Given the description of an element on the screen output the (x, y) to click on. 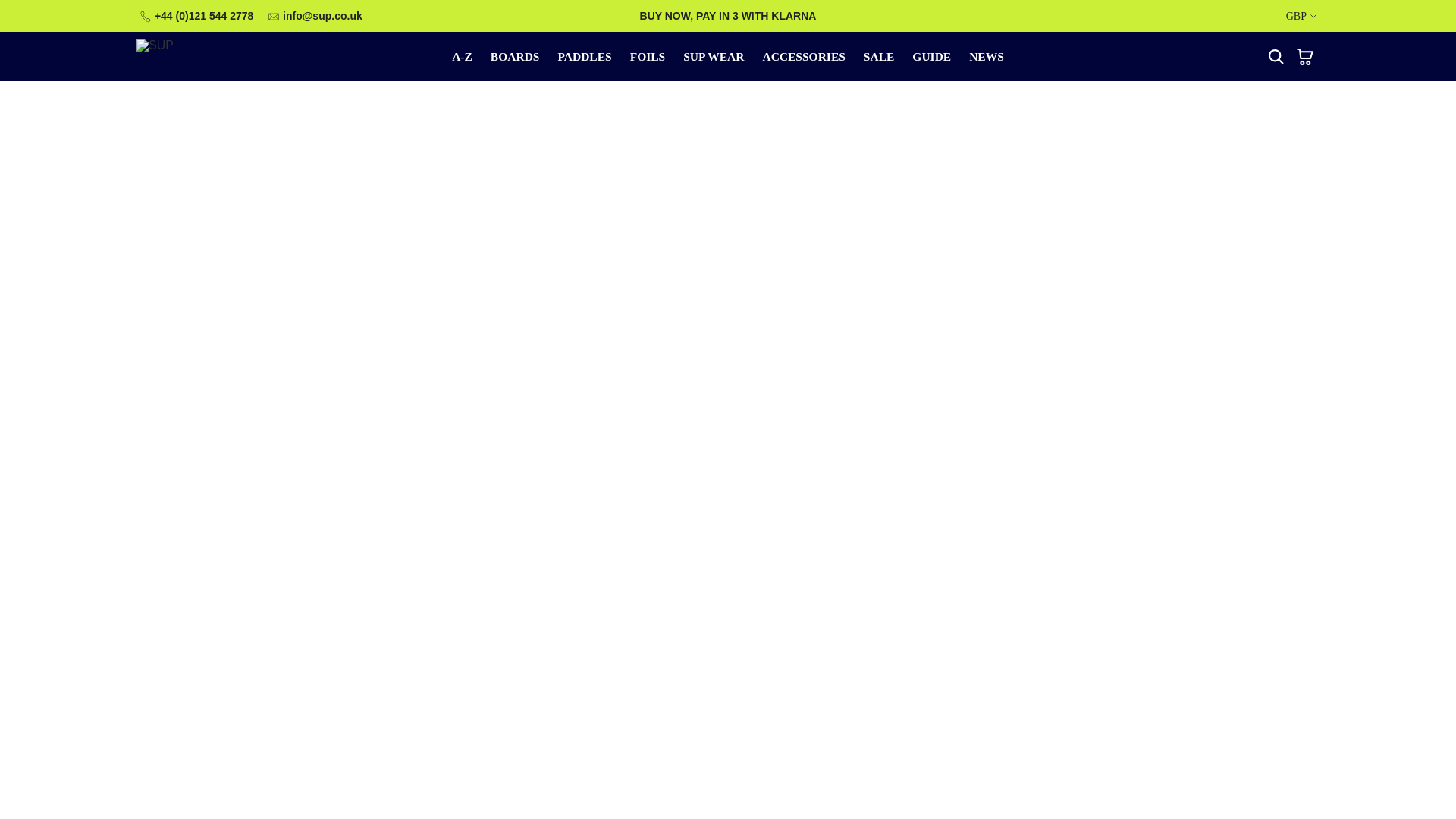
Easy Payments (728, 15)
FOILS (648, 56)
SUP WEAR (713, 56)
ACCESSORIES (802, 56)
A-Z (461, 56)
PADDLES (584, 56)
GBP (1300, 16)
Skip to content (10, 7)
BOARDS (514, 56)
SALE (879, 56)
BUY NOW, PAY IN 3 WITH KLARNA (728, 15)
GUIDE (930, 56)
NEWS (986, 56)
